Given the description of an element on the screen output the (x, y) to click on. 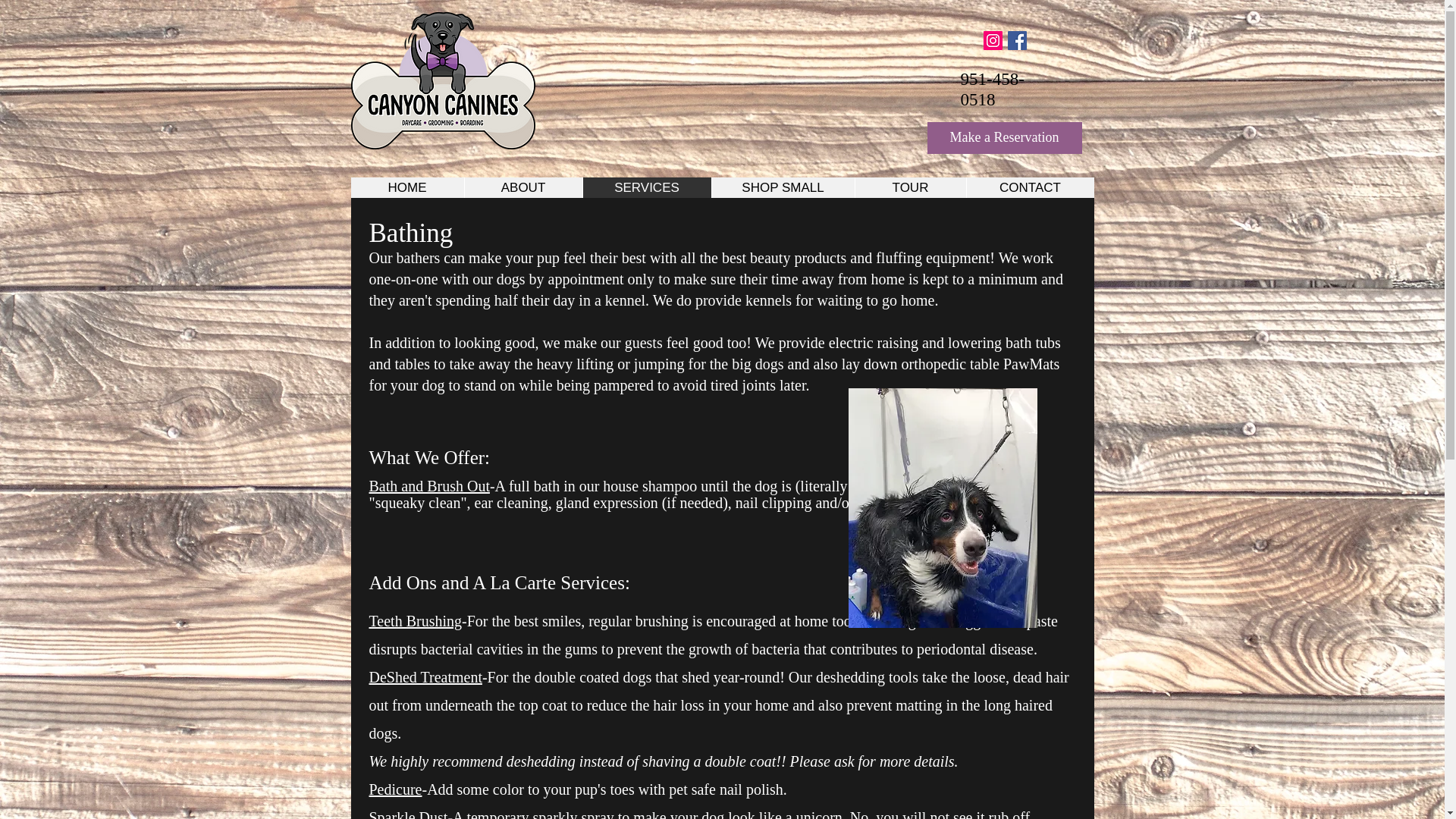
Make a Reservation (1003, 137)
SERVICES (646, 187)
TOUR (909, 187)
SHOP SMALL (782, 187)
ABOUT (523, 187)
CONTACT (1030, 187)
HOME (406, 187)
